Given the description of an element on the screen output the (x, y) to click on. 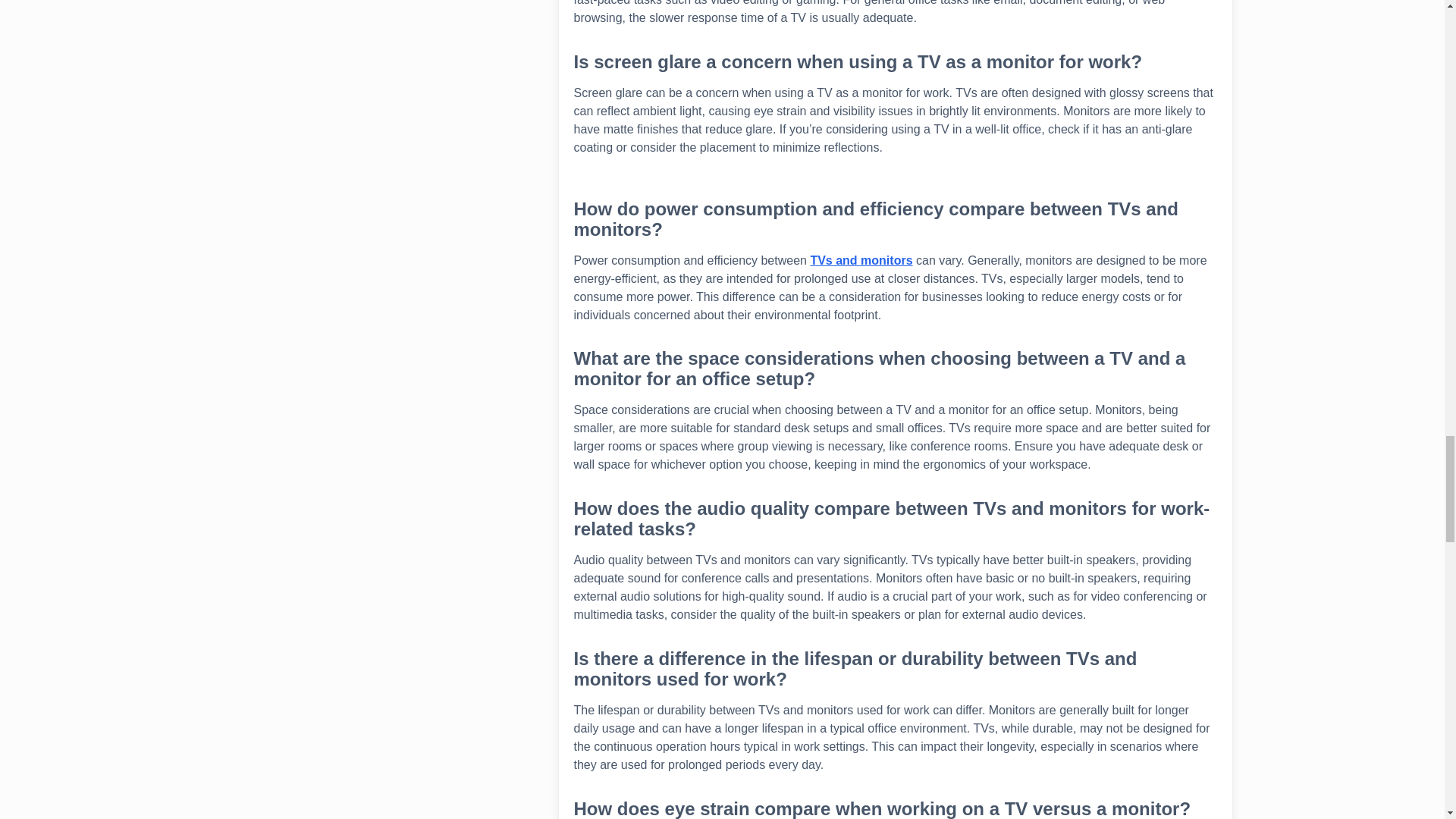
TVs and monitors (860, 259)
